Given the description of an element on the screen output the (x, y) to click on. 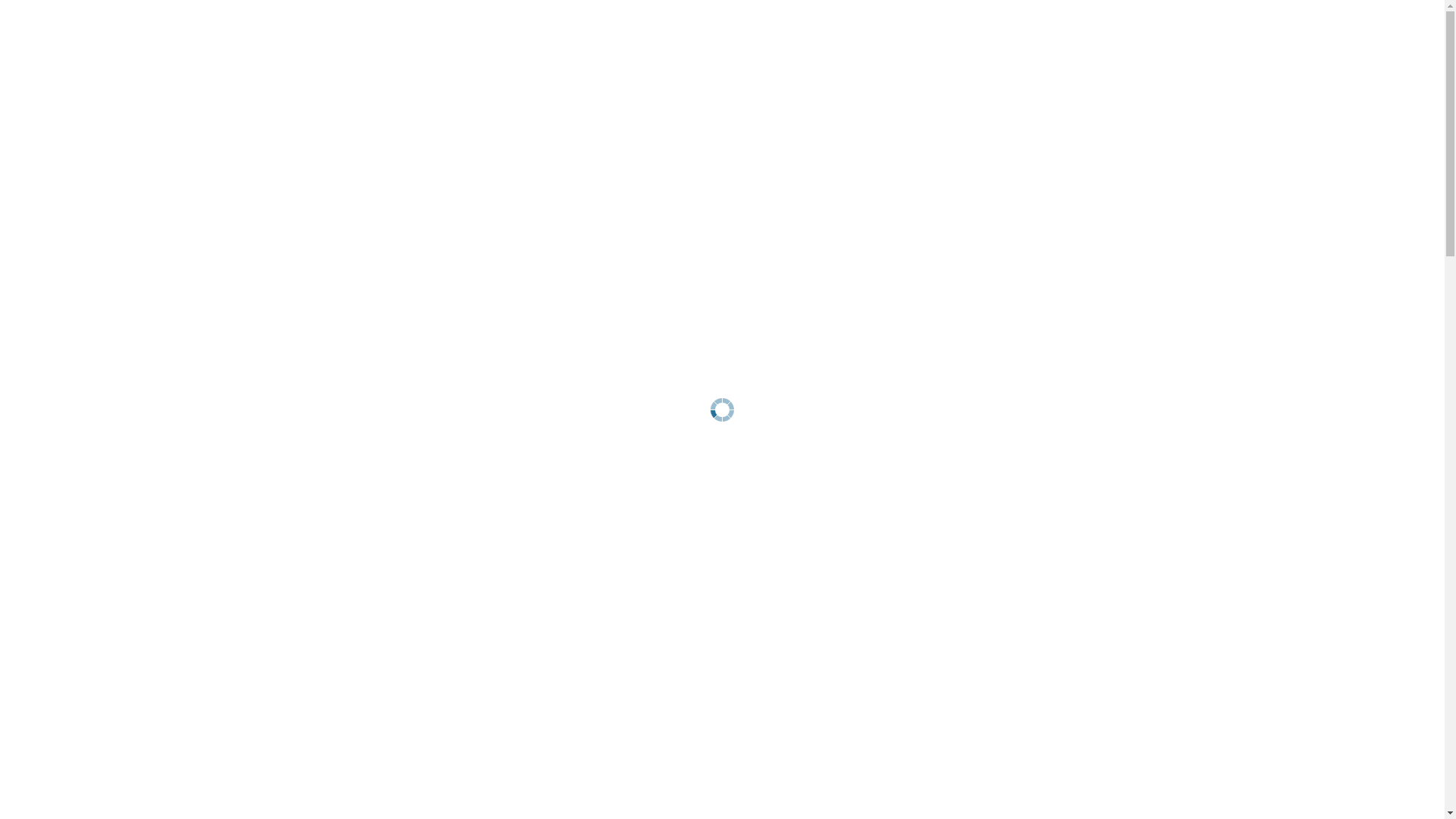
Review Service Element type: text (102, 266)
CONTACT US Element type: text (1224, 52)
Advice Pathway Element type: text (104, 249)
NeoWealth Element type: text (62, 99)
ADVISERS Element type: text (1077, 52)
Upcoming Events Element type: text (110, 366)
Services Element type: text (53, 199)
Do You Need Advice? Element type: text (120, 299)
Testimonials Element type: text (96, 183)
Associations & Professional Partners Element type: text (166, 166)
Who We Can Help Element type: text (111, 233)
Points Of Difference Element type: text (117, 149)
Contact Us Element type: text (61, 383)
Clients Element type: text (49, 333)
Advisers Element type: text (54, 316)
Who We Are Element type: text (95, 116)
FAQ Element type: text (71, 283)
Our Services Element type: text (96, 216)
Vision, Mission & Values Element type: text (129, 133)
Investor Login Element type: text (100, 350)
